Given the description of an element on the screen output the (x, y) to click on. 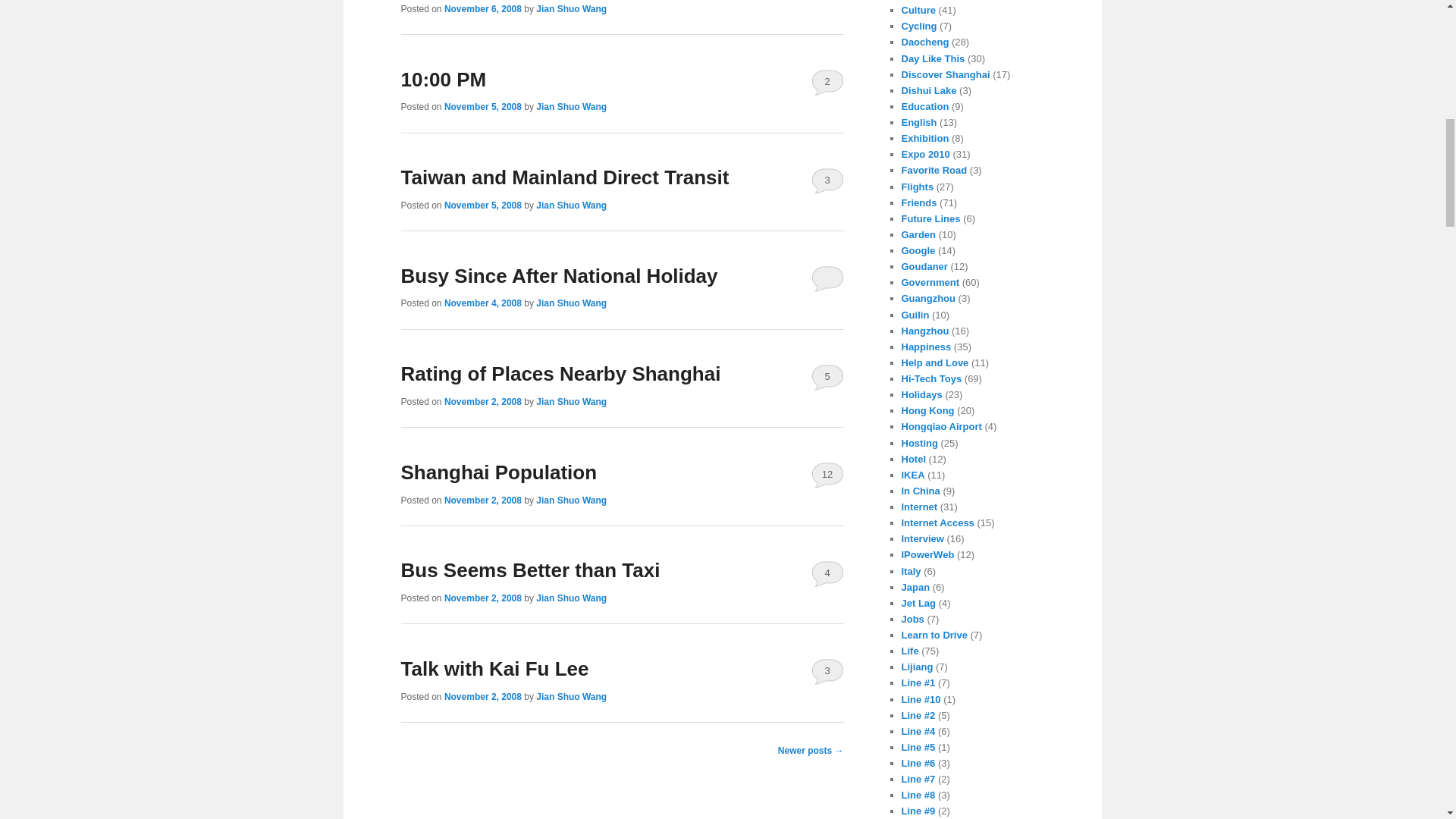
9:36 pm (482, 106)
9:09 pm (482, 9)
View all posts by Jian Shuo Wang (571, 106)
View all posts by Jian Shuo Wang (571, 9)
View all posts by Jian Shuo Wang (571, 204)
11:00 pm (482, 303)
6:34 pm (482, 204)
